Given the description of an element on the screen output the (x, y) to click on. 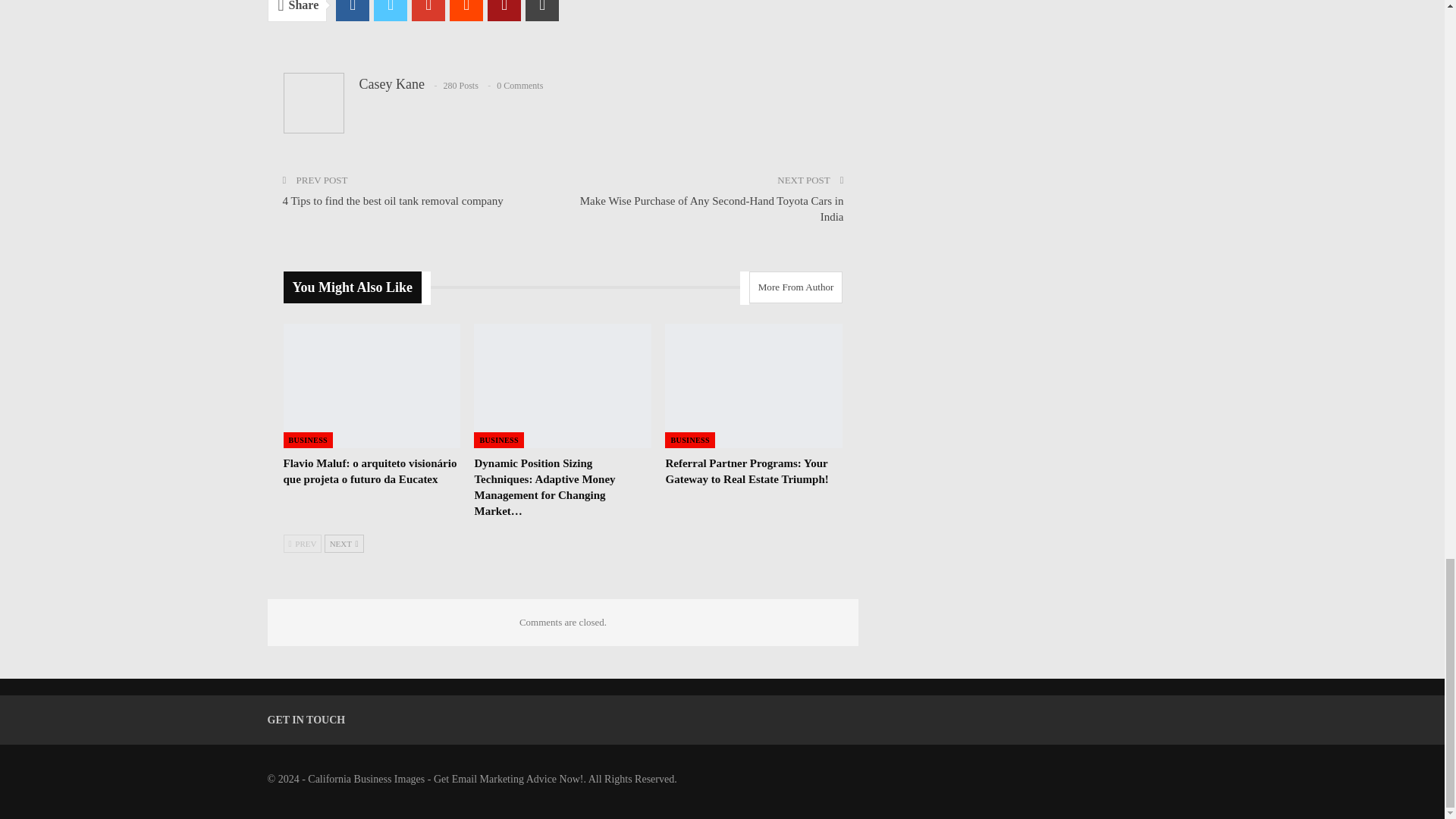
Previous (302, 543)
Next (344, 543)
